Given the description of an element on the screen output the (x, y) to click on. 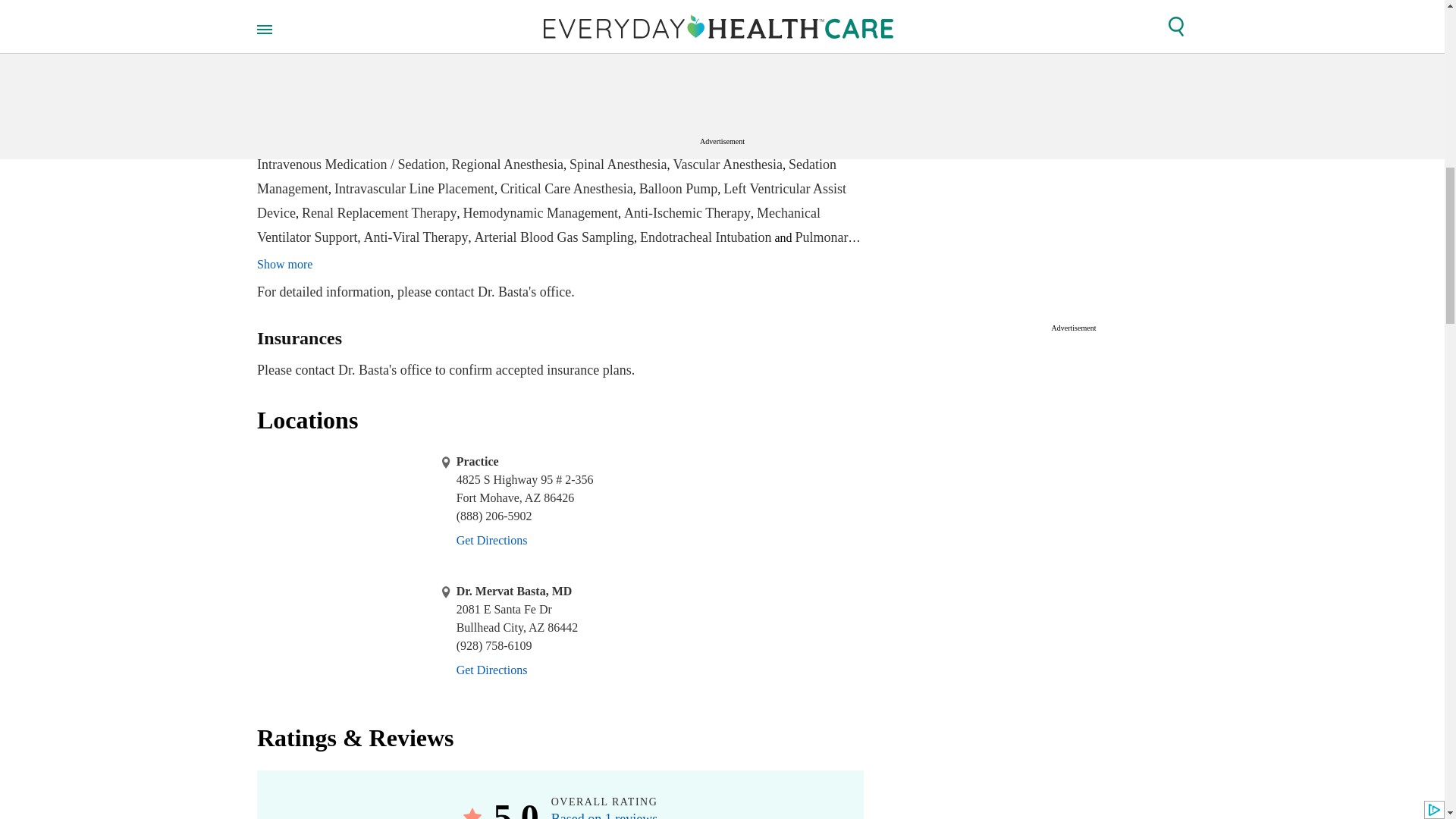
Arterial Blood Gas Sampling (553, 237)
Intravascular Line Placement (414, 188)
Mechanical Ventilator Support (539, 224)
Post-Surgery Anesthesia Follow Up (559, 128)
Sedation Management (546, 176)
Anesthesia Consultation (613, 115)
Vascular Anesthesia (726, 164)
General Anesthesia (796, 140)
Anti-Ischemic Therapy (687, 212)
Pulmonary Artery Catheter Placement (556, 249)
Ventilator Management (551, 140)
Airway Management (678, 140)
Endotracheal Intubation (705, 237)
Hemodynamic Management (540, 212)
